Given the description of an element on the screen output the (x, y) to click on. 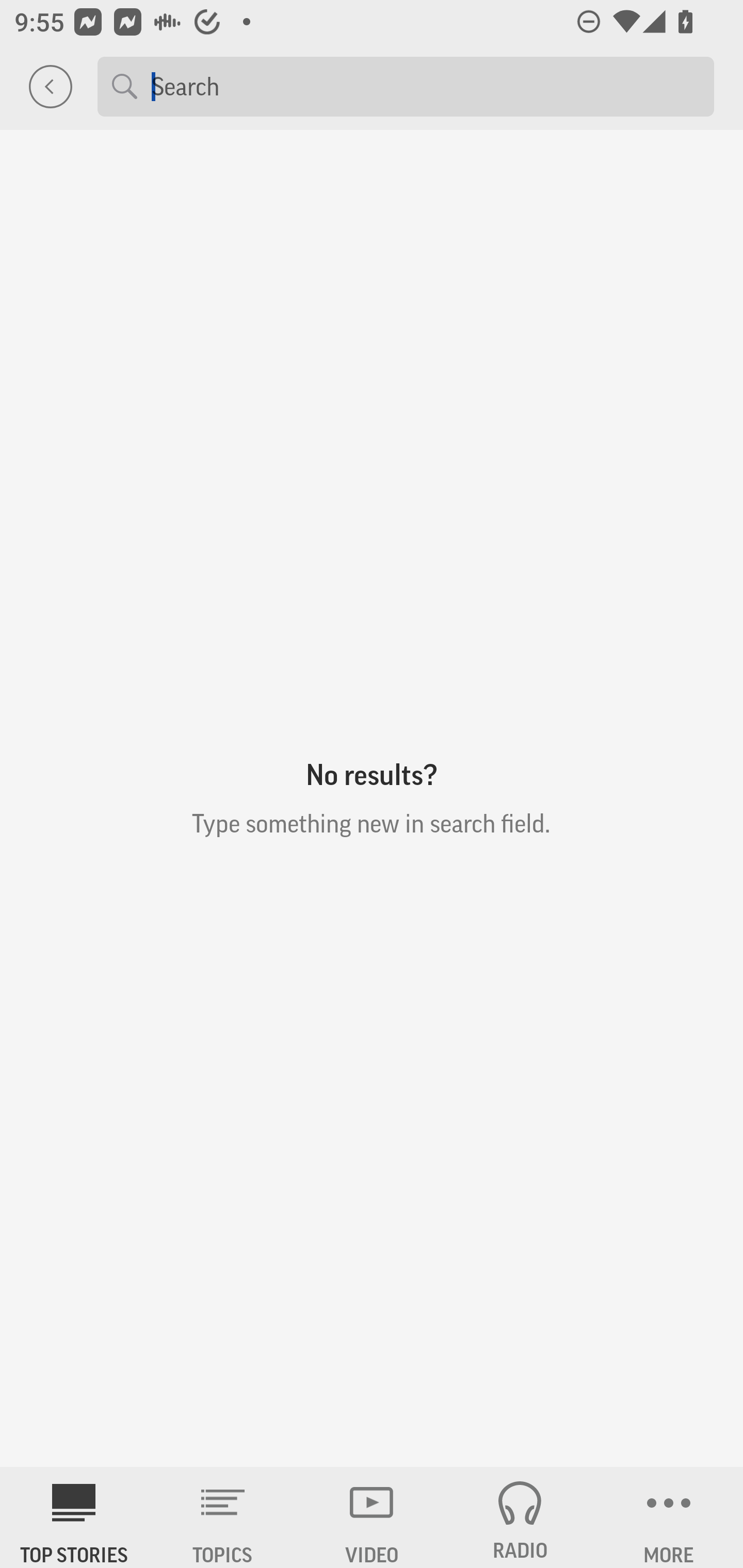
Search (425, 86)
AP News TOP STORIES (74, 1517)
TOPICS (222, 1517)
VIDEO (371, 1517)
RADIO (519, 1517)
MORE (668, 1517)
